Given the description of an element on the screen output the (x, y) to click on. 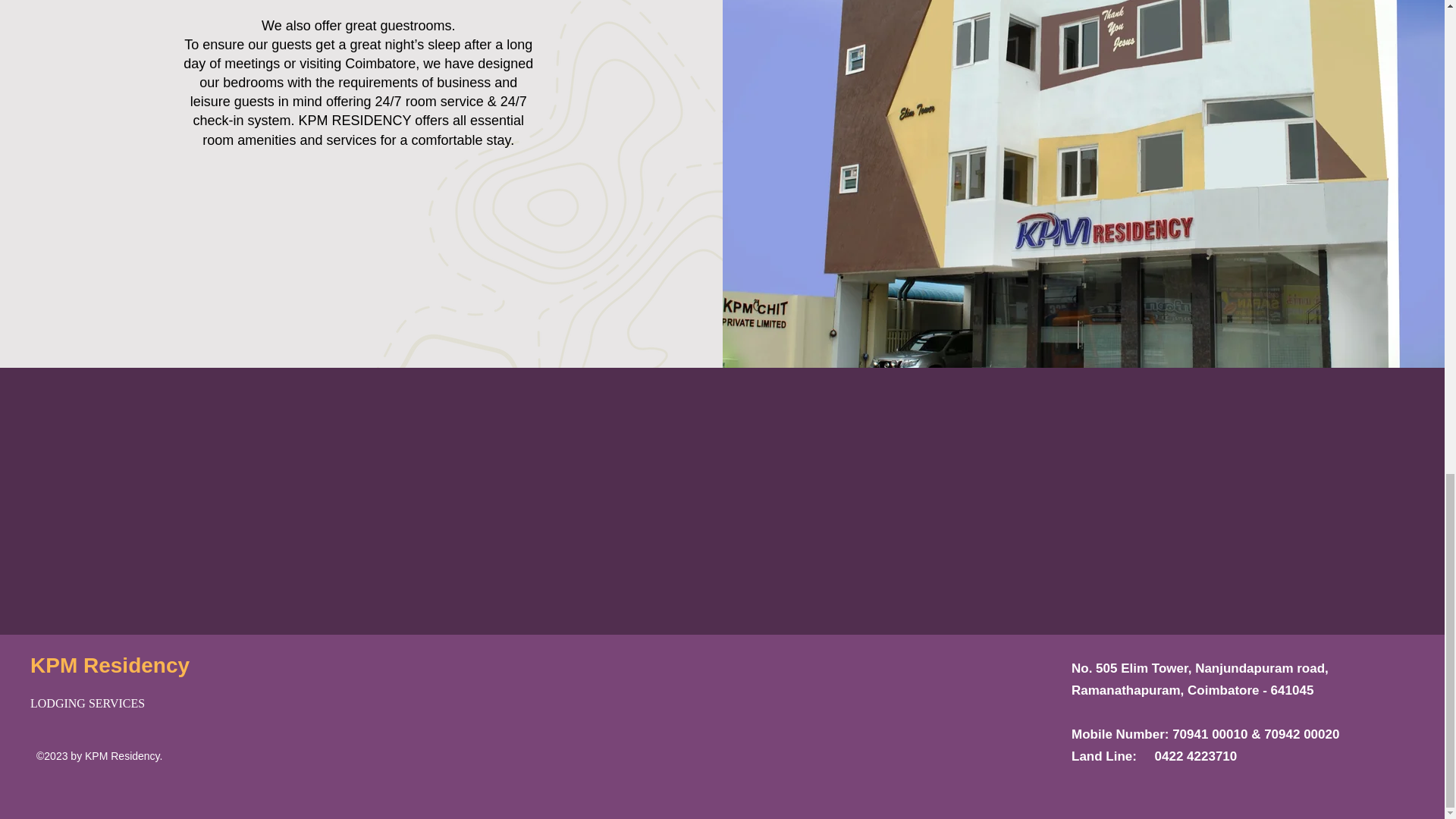
No. 505 Elim Tower, Nanjundapuram road, (1199, 667)
KPM Residency (109, 665)
